Given the description of an element on the screen output the (x, y) to click on. 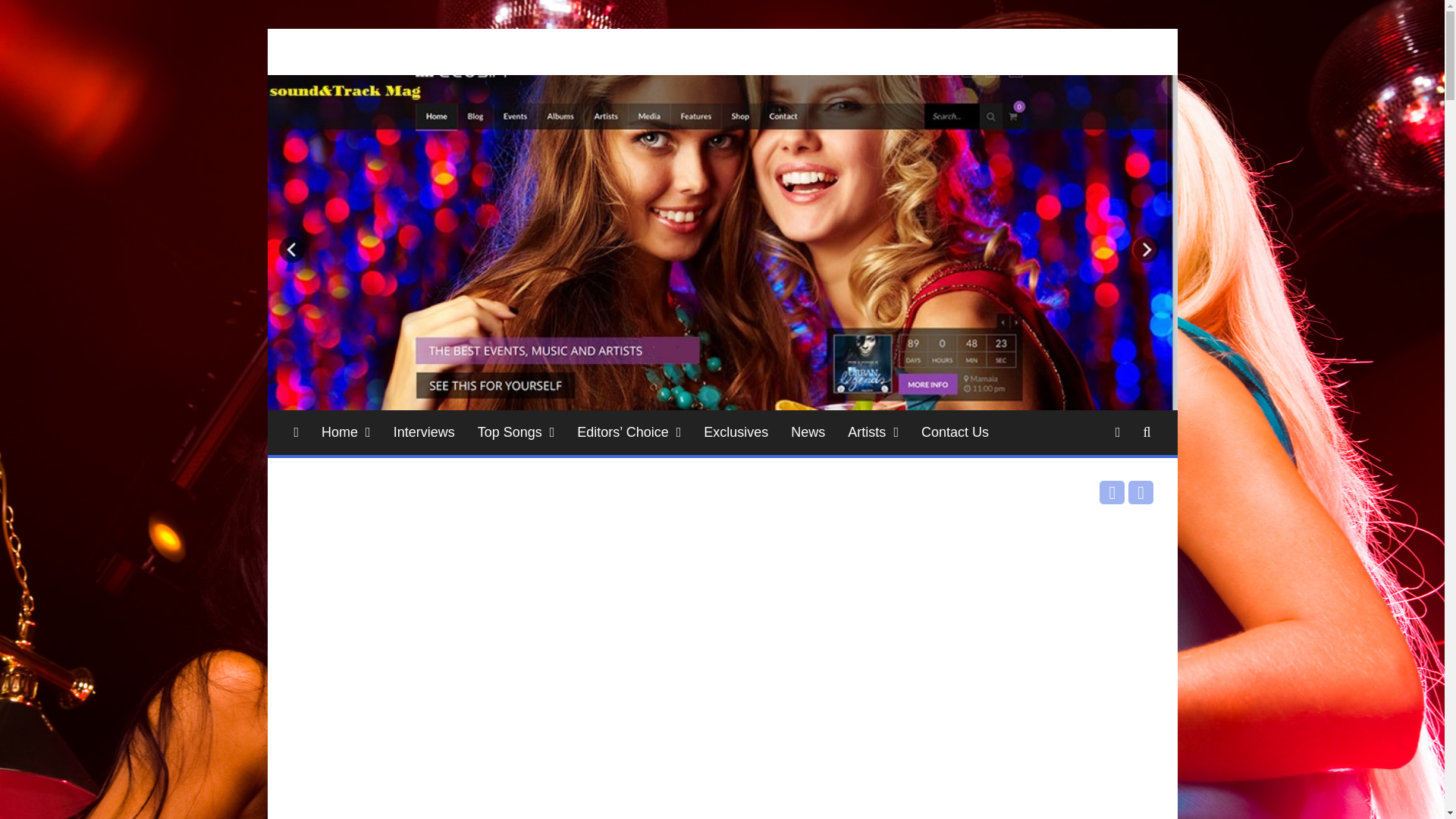
Exclusives (735, 432)
Interviews (423, 432)
Artists (872, 432)
Top Songs (515, 432)
SnT Mag (339, 72)
News (806, 432)
Contact Us (955, 432)
Home (345, 432)
